Given the description of an element on the screen output the (x, y) to click on. 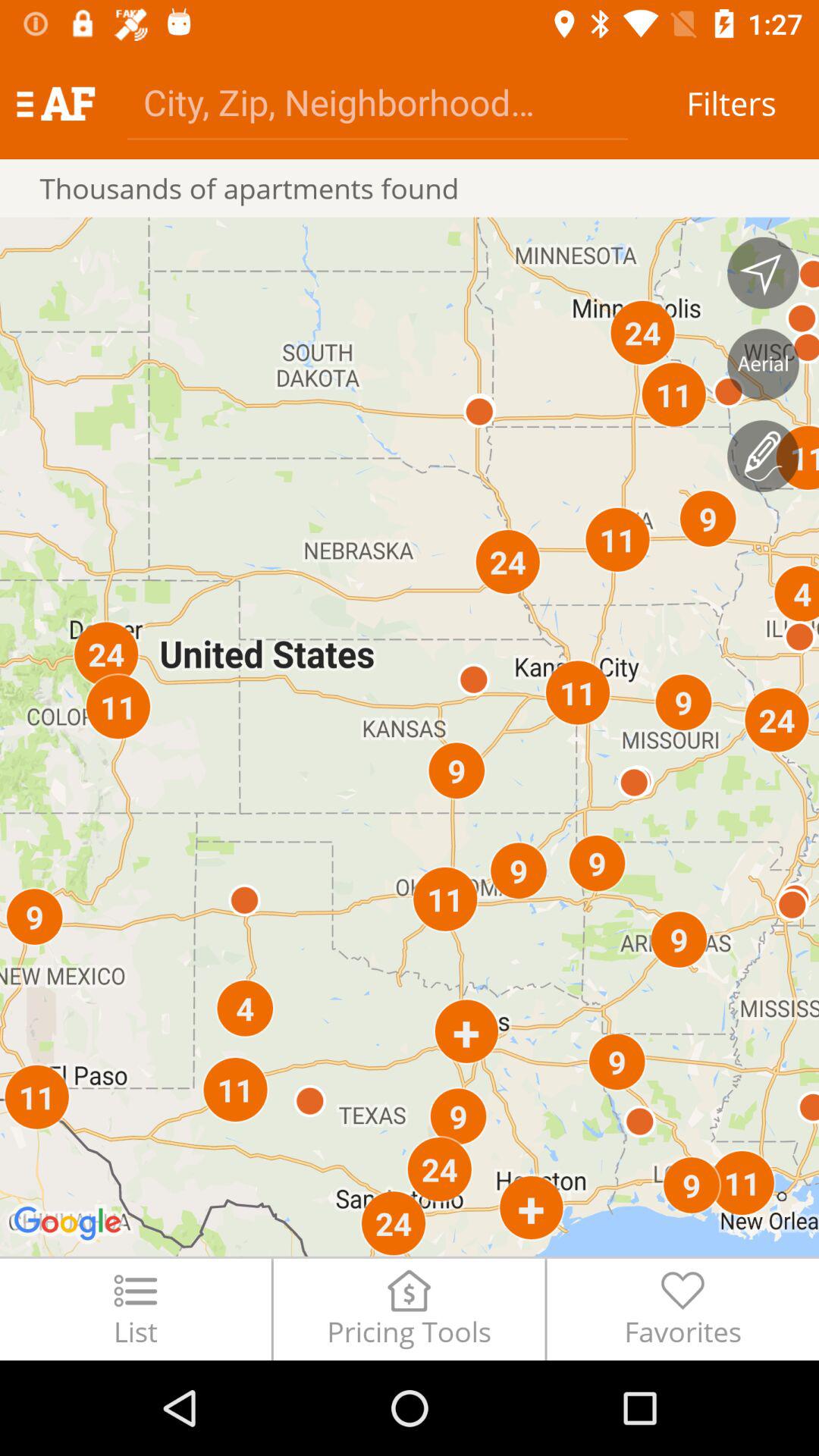
jump to list (135, 1309)
